Given the description of an element on the screen output the (x, y) to click on. 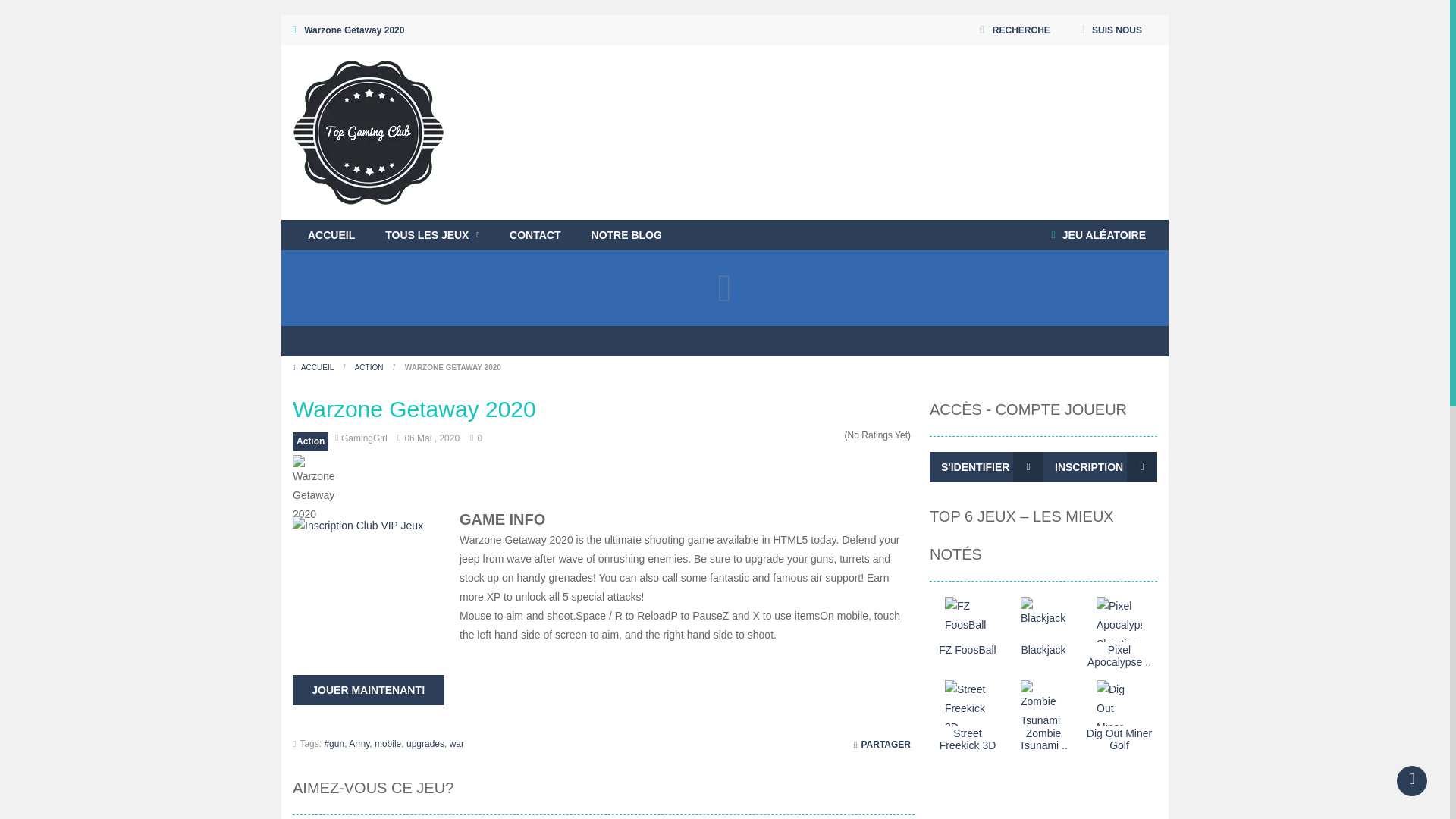
NOTRE BLOG (626, 235)
SUIS NOUS (1110, 30)
RECHERCHE (1014, 30)
ACCUEIL (330, 235)
TOUS LES JEUX (432, 235)
CONTACT (535, 235)
